Given the description of an element on the screen output the (x, y) to click on. 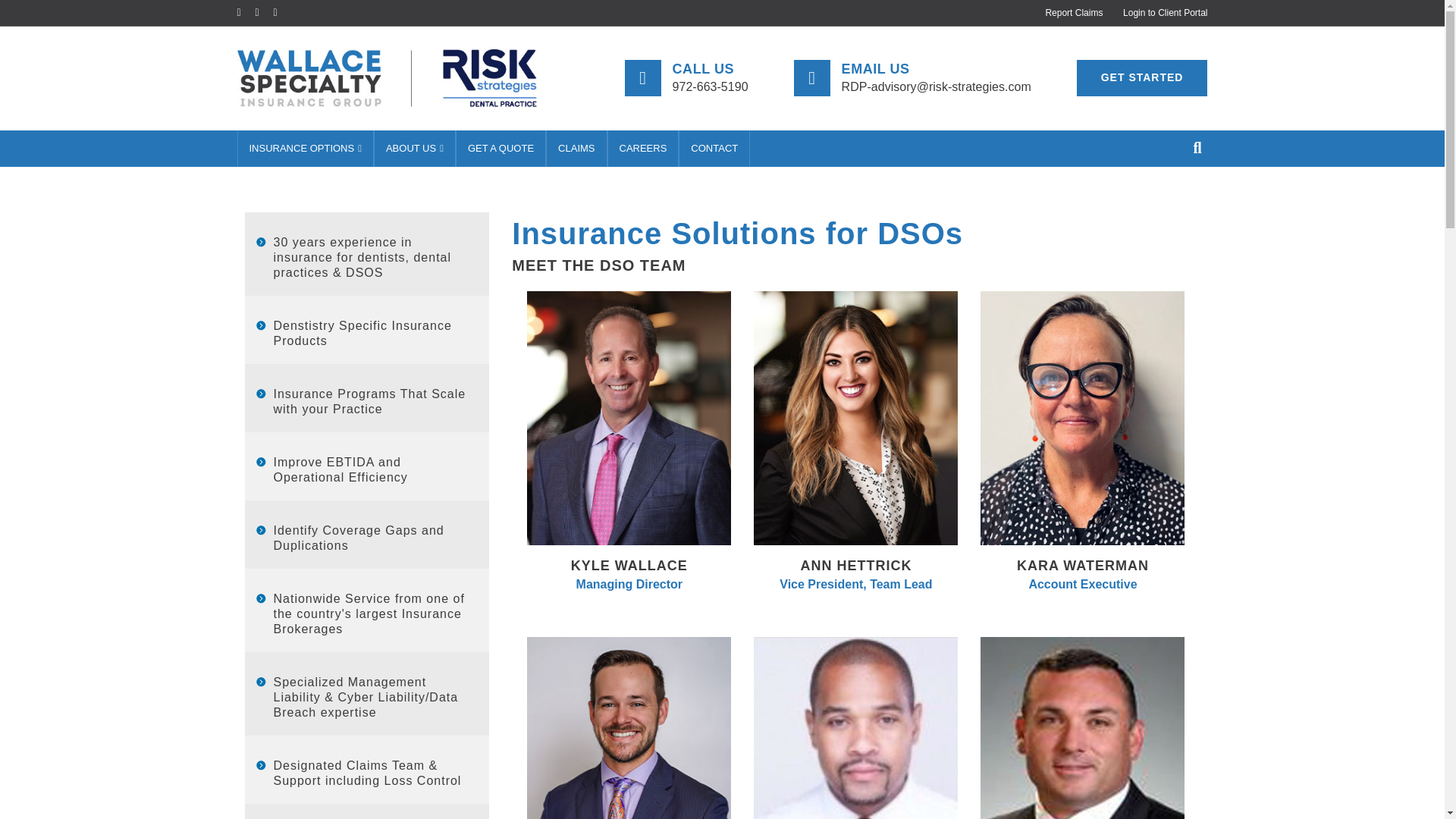
Instagram (282, 11)
GET A QUOTE (500, 148)
KARA WATERMAN (1082, 565)
KYLE WALLACE (628, 565)
972-663-5190 (710, 86)
Contact Wallace Specialty Insurance Group (714, 148)
ABOUT US (414, 148)
  Login to Client Portal (1161, 13)
Dental Practice Insurance Options (305, 148)
CONTACT (714, 148)
